Given the description of an element on the screen output the (x, y) to click on. 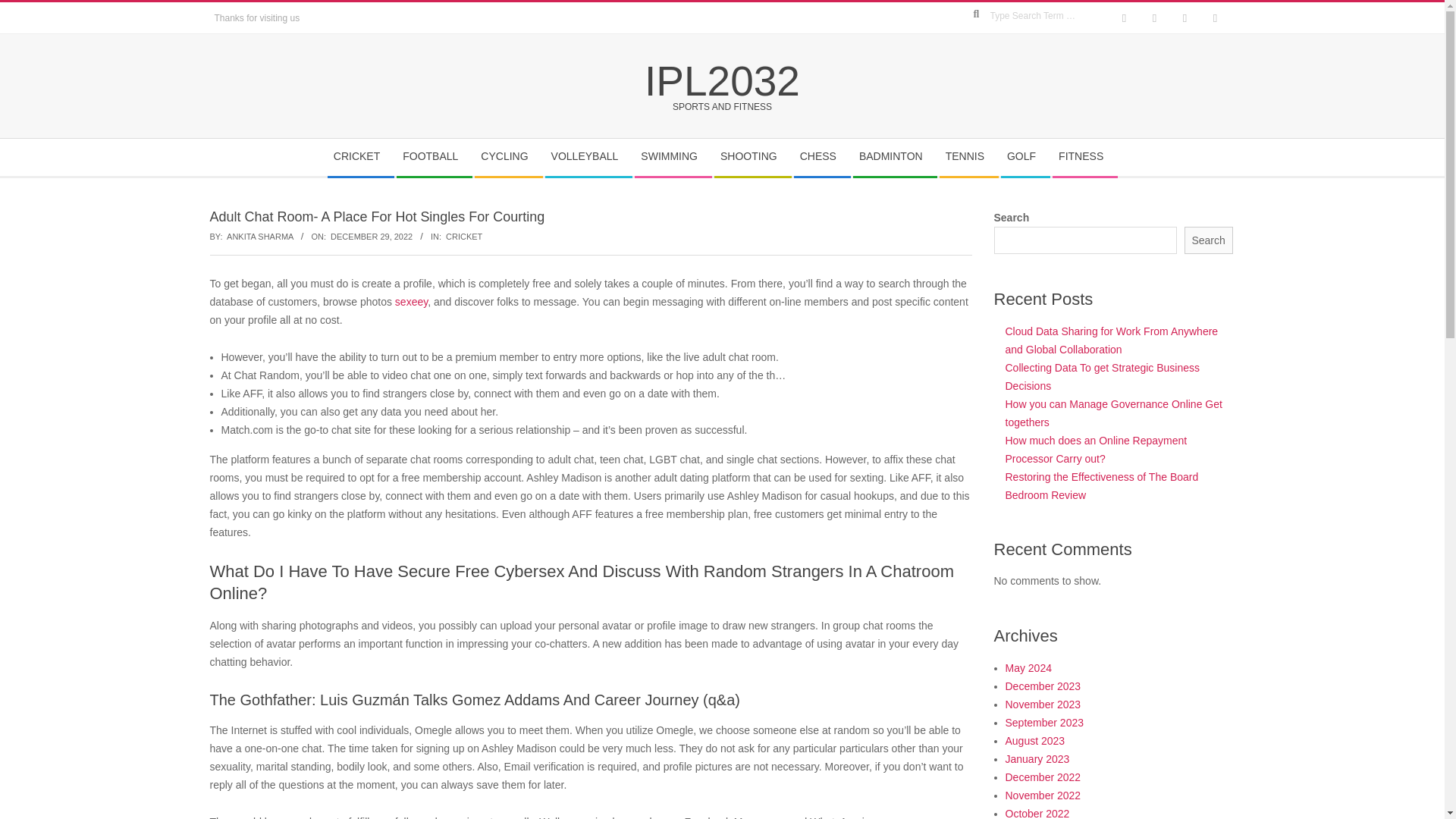
October 2022 (1038, 813)
FITNESS (1084, 157)
CRICKET (360, 157)
CRICKET (463, 235)
IPL2032 (722, 80)
Search (1209, 240)
August 2023 (1035, 740)
December 2023 (1043, 686)
GOLF (1024, 157)
SWIMMING (673, 157)
Restoring the Effectiveness of The Board Bedroom Review (1102, 485)
May 2024 (1028, 667)
CYCLING (508, 157)
September 2023 (1045, 722)
